Given the description of an element on the screen output the (x, y) to click on. 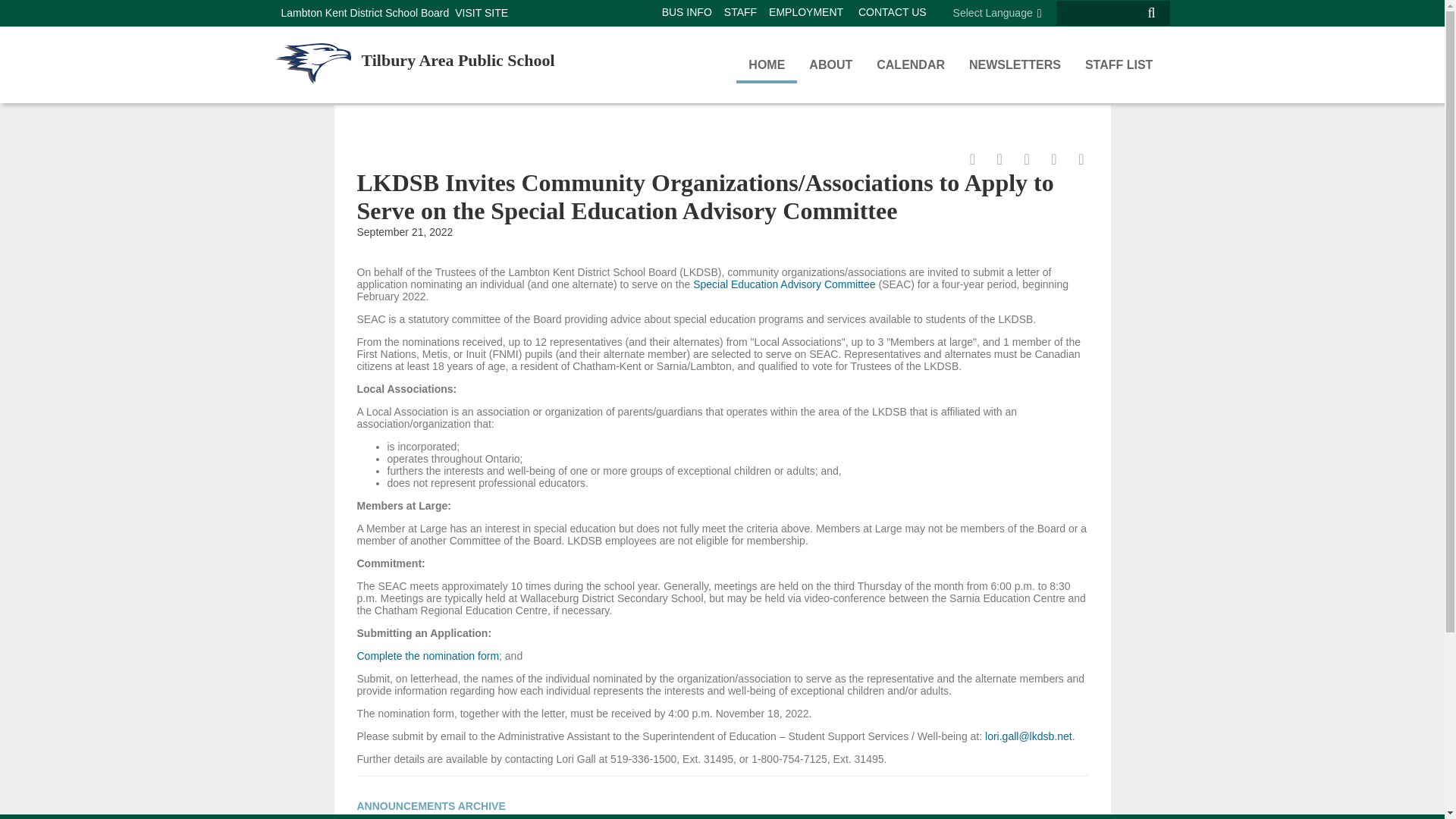
CALENDAR (910, 63)
EMPLOYMENT (805, 11)
ANNOUNCEMENTS ARCHIVE (430, 806)
Complete the nomination form (427, 655)
Lambton Kent District School BoardVISIT SITE (394, 13)
NEWSLETTERS (1014, 63)
email (1021, 160)
STAFF (740, 11)
CONTACT US (892, 11)
BUS INFO (686, 11)
